Given the description of an element on the screen output the (x, y) to click on. 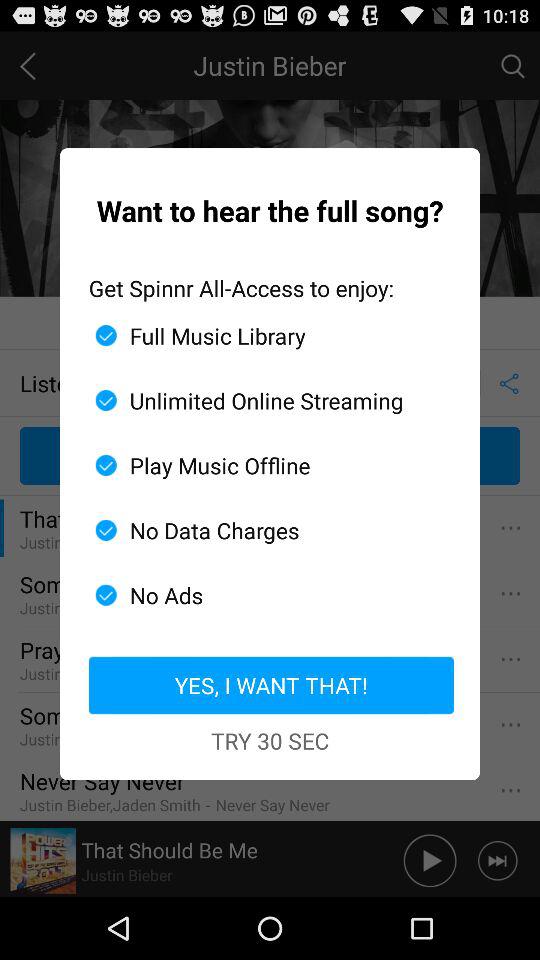
press no data charges app (261, 530)
